Given the description of an element on the screen output the (x, y) to click on. 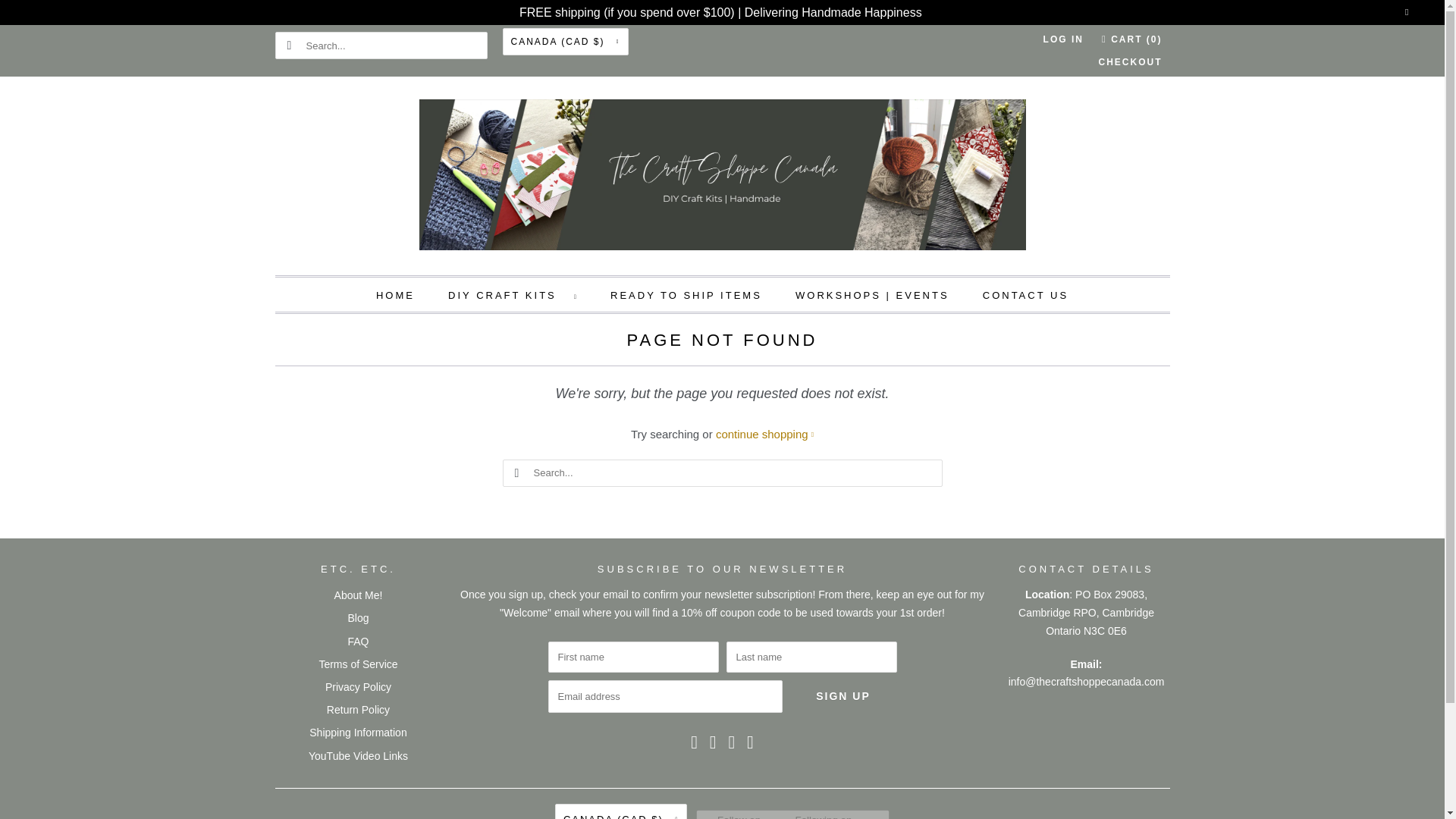
CONTACT US (1025, 295)
READY TO SHIP ITEMS (685, 295)
HOME (394, 295)
CHECKOUT (1129, 61)
LOG IN (1063, 38)
Sign Up (843, 696)
